Given the description of an element on the screen output the (x, y) to click on. 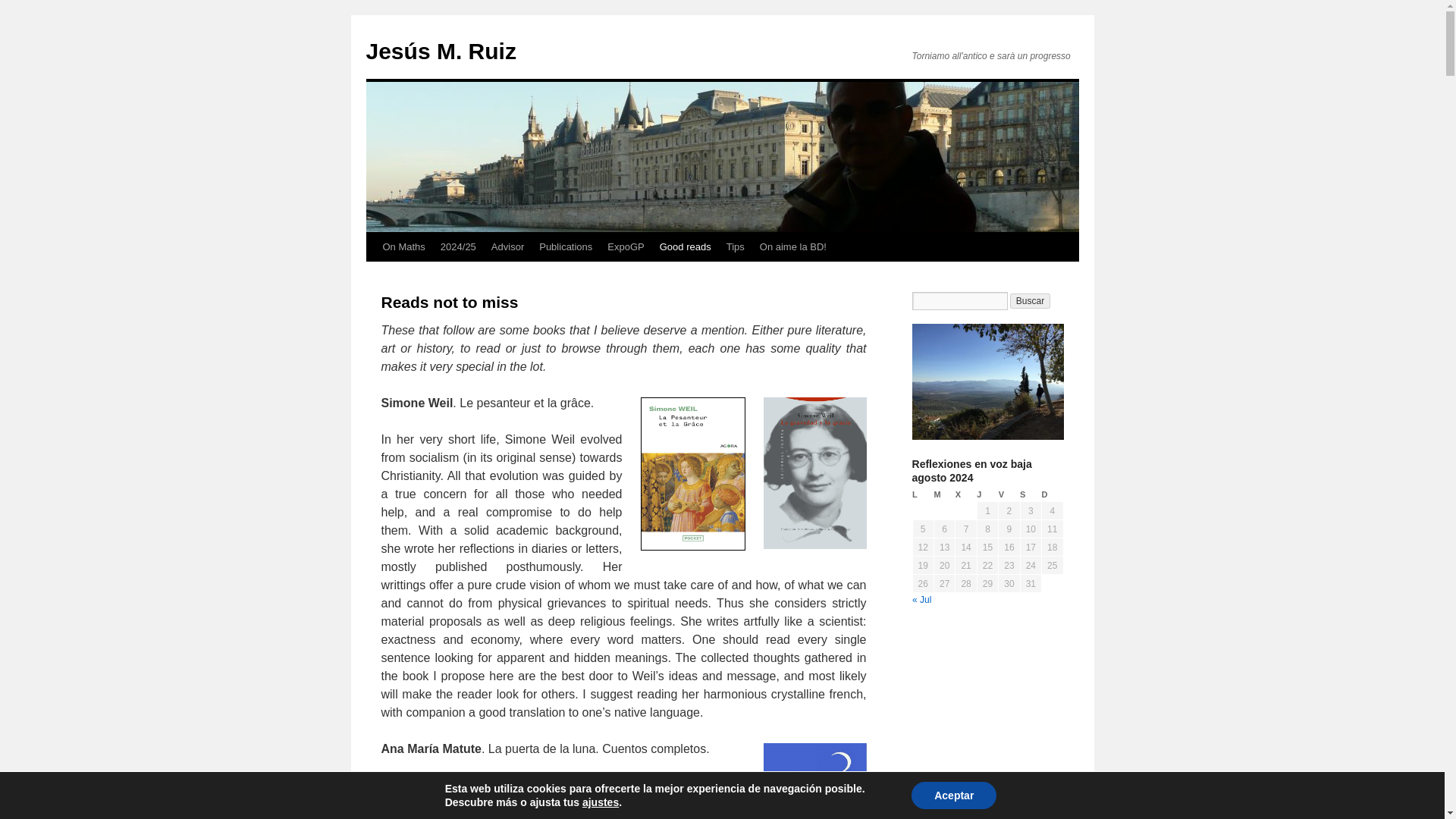
ExpoGP (624, 246)
Publications (565, 246)
lunes (922, 494)
Buscar (1029, 300)
Good reads (685, 246)
martes (944, 494)
On Maths (403, 246)
viernes (1009, 494)
Tips (735, 246)
jueves (986, 494)
